Given the description of an element on the screen output the (x, y) to click on. 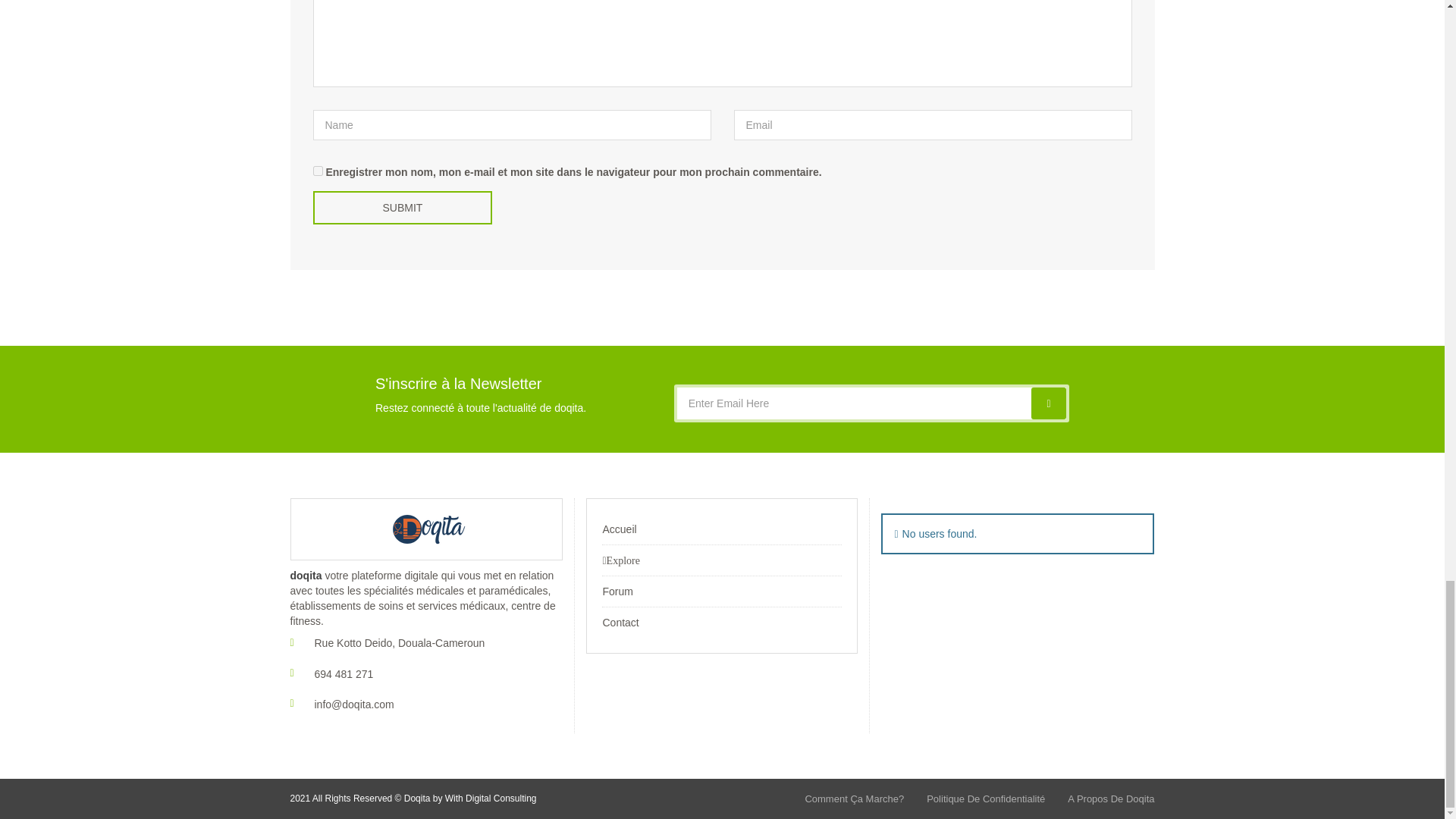
Submit (402, 207)
yes (317, 171)
694 481 271 (343, 673)
Accueil (619, 529)
Submit (402, 207)
